Given the description of an element on the screen output the (x, y) to click on. 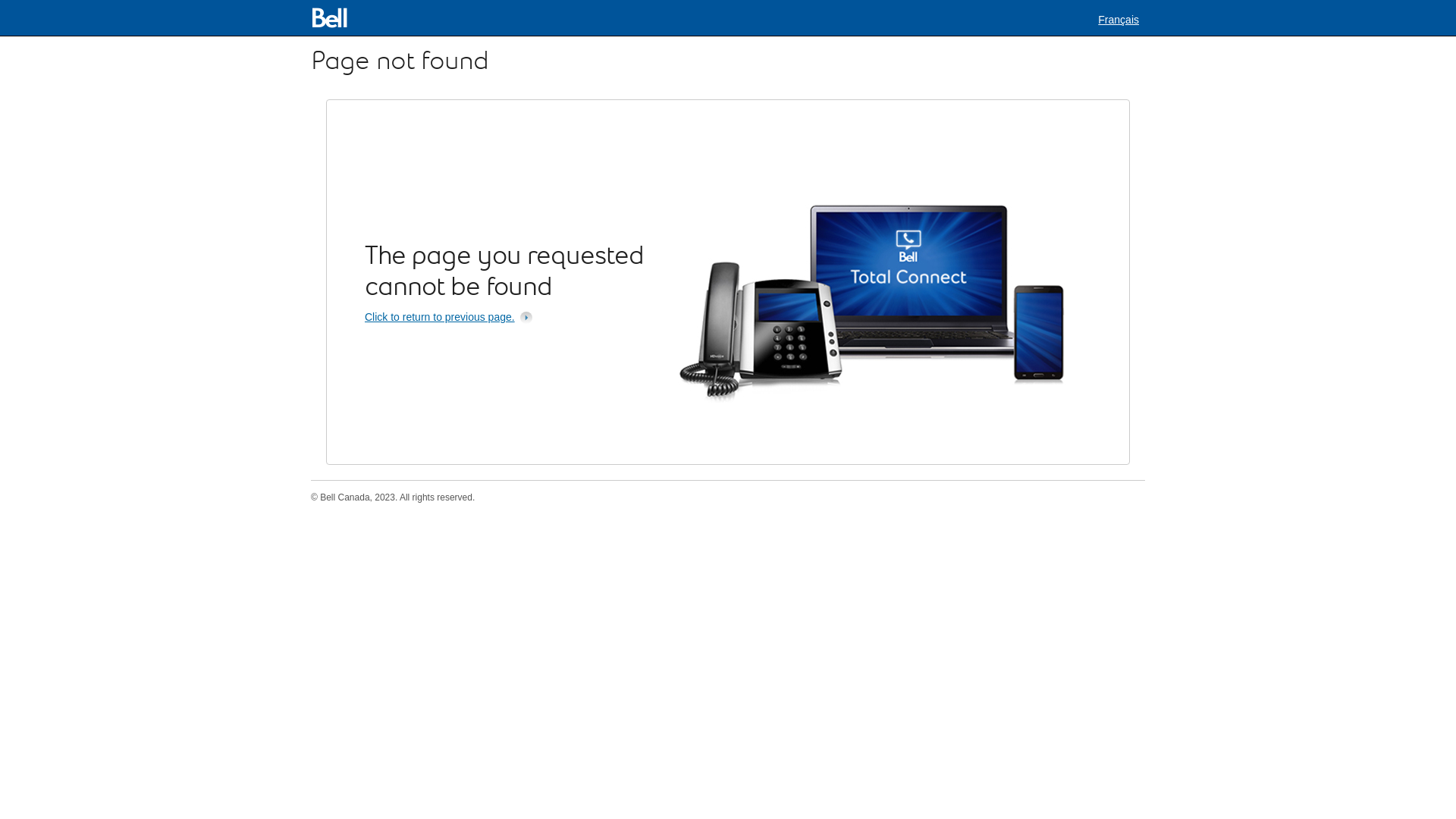
Click to return to previous page. Element type: text (450, 316)
Bell Home  Element type: hover (331, 18)
